Given the description of an element on the screen output the (x, y) to click on. 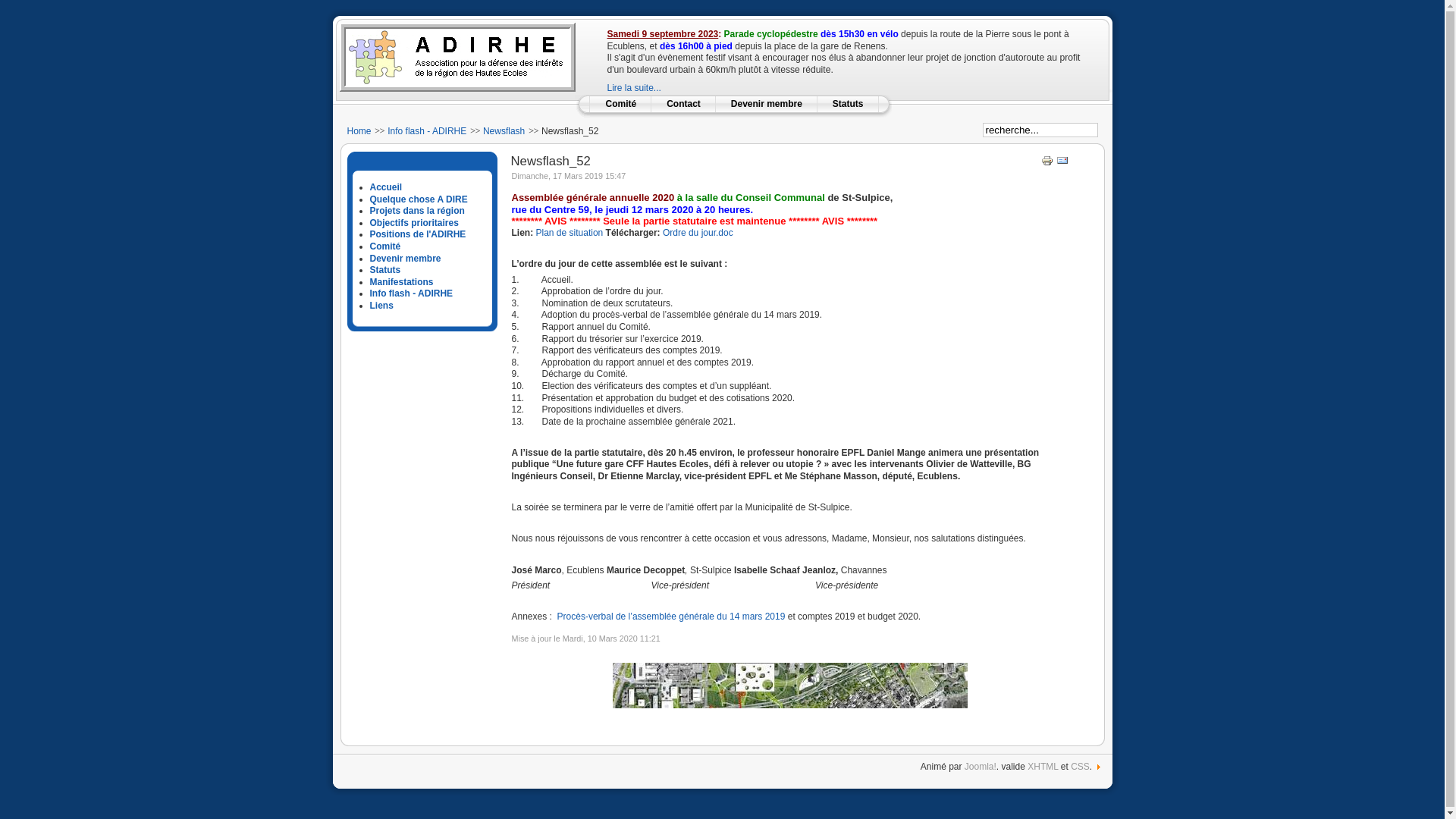
Newsflash Element type: text (503, 130)
CSS Element type: text (1079, 766)
Accueil Element type: text (386, 187)
Plan de situation Element type: text (568, 232)
Liens Element type: text (381, 305)
Joomla! Element type: text (980, 766)
Home Element type: text (359, 130)
Ordre du jour.doc Element type: text (697, 232)
Positions de l'ADIRHE Element type: text (418, 234)
Contact Element type: text (683, 103)
Statuts Element type: text (847, 103)
Devenir membre Element type: text (405, 258)
Envoyer Element type: hover (1062, 163)
Manifestations Element type: text (401, 281)
Devenir membre Element type: text (766, 103)
Info flash - ADIRHE Element type: text (426, 130)
Info flash - ADIRHE Element type: text (411, 293)
Imprimer Element type: hover (1047, 163)
Statuts Element type: text (385, 269)
Lire la suite... Element type: text (633, 87)
XHTML Element type: text (1042, 766)
Quelque chose A DIRE Element type: text (418, 199)
Objectifs prioritaires Element type: text (414, 222)
